Given the description of an element on the screen output the (x, y) to click on. 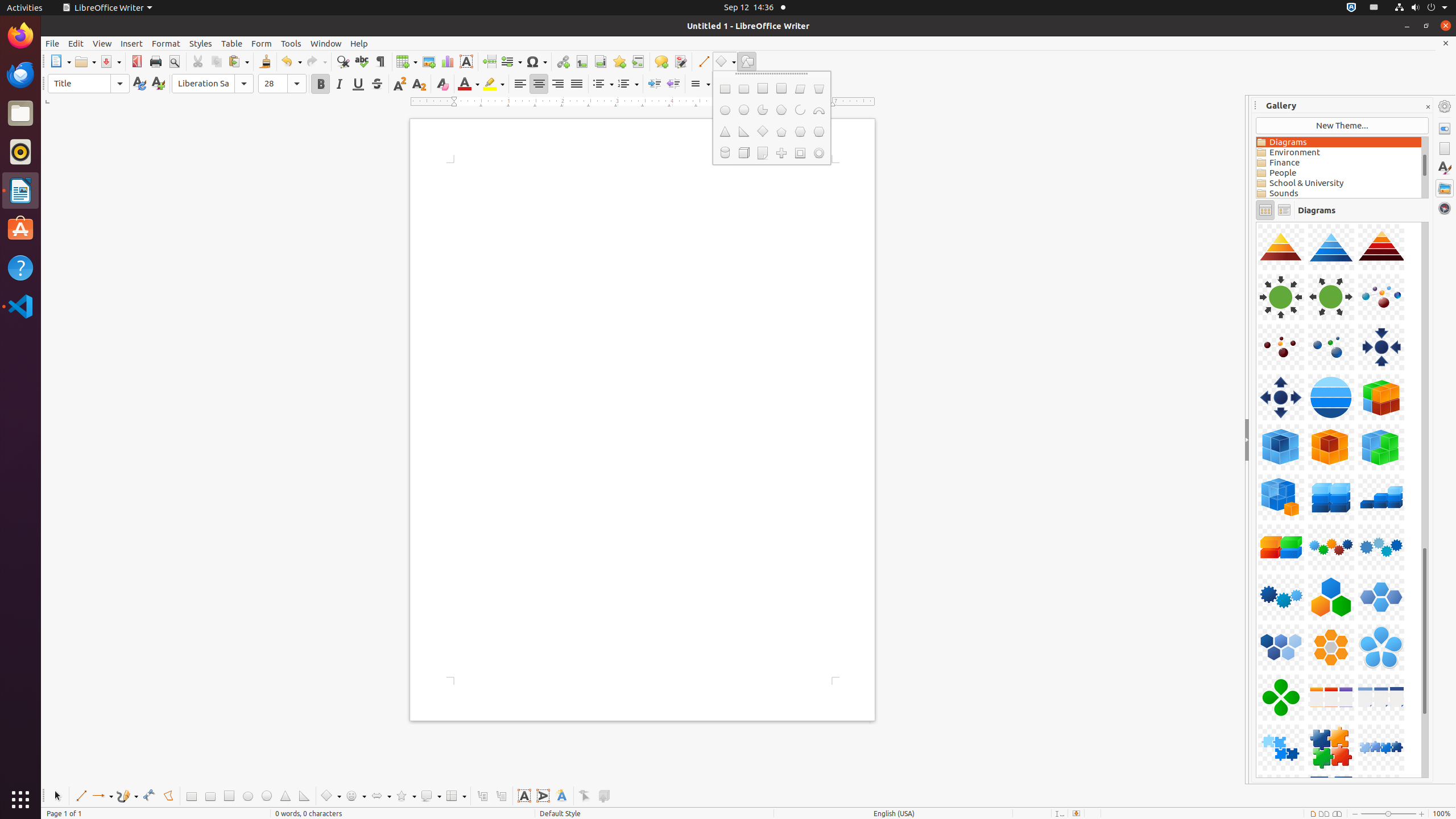
Component-Cube02-LightBlue Element type: list-item (1256, 222)
Decrease Element type: push-button (739, 83)
Hexagon Element type: toggle-button (799, 131)
Hyperlink Element type: toggle-button (562, 61)
Cut Element type: push-button (197, 61)
